Given the description of an element on the screen output the (x, y) to click on. 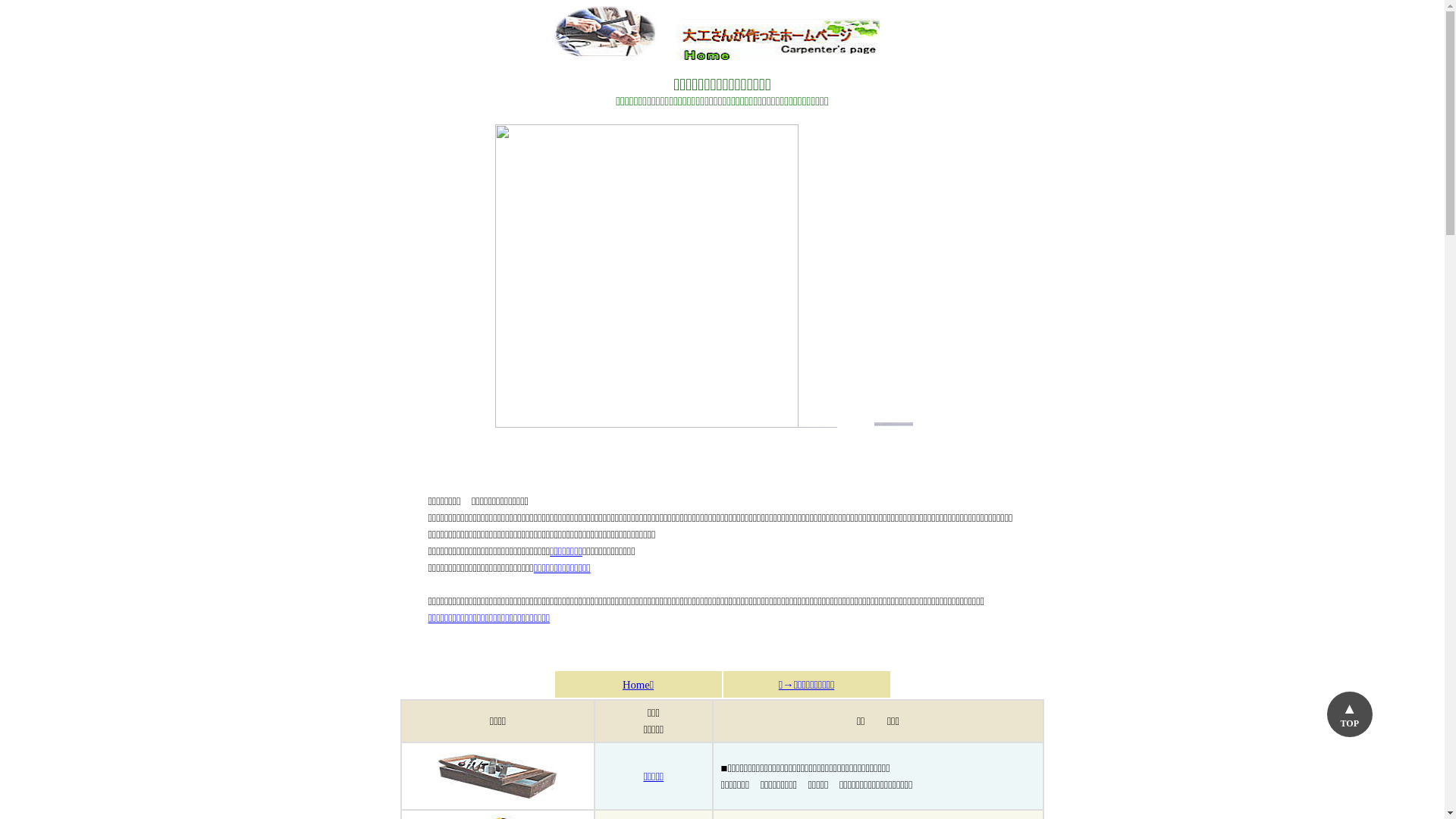
TOP Element type: text (1349, 714)
